Given the description of an element on the screen output the (x, y) to click on. 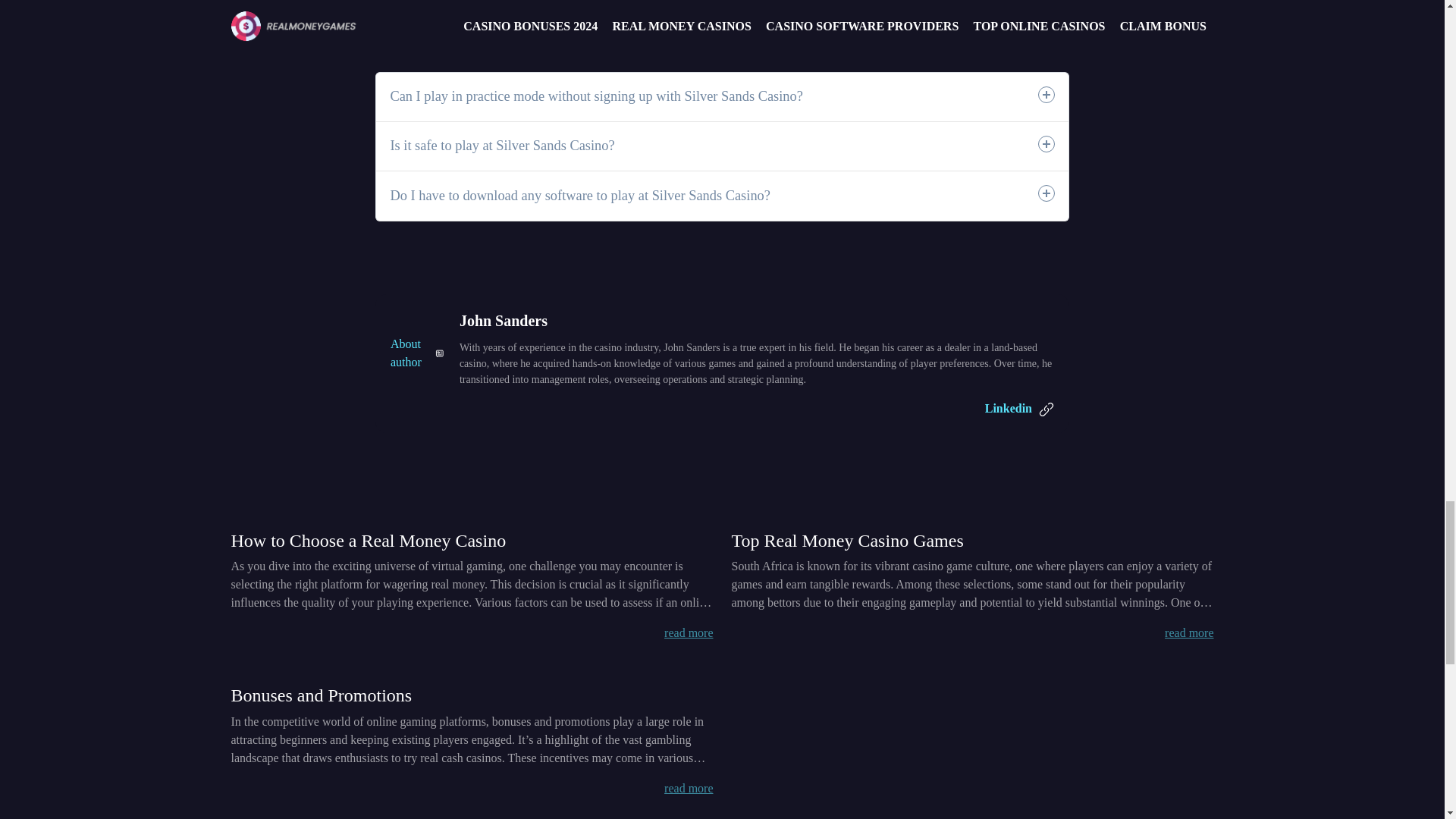
Is it safe to play at Silver Sands Casino? (721, 146)
read more (1188, 632)
read more (688, 632)
About author (417, 352)
read more (688, 788)
Linkedin (1019, 408)
